Given the description of an element on the screen output the (x, y) to click on. 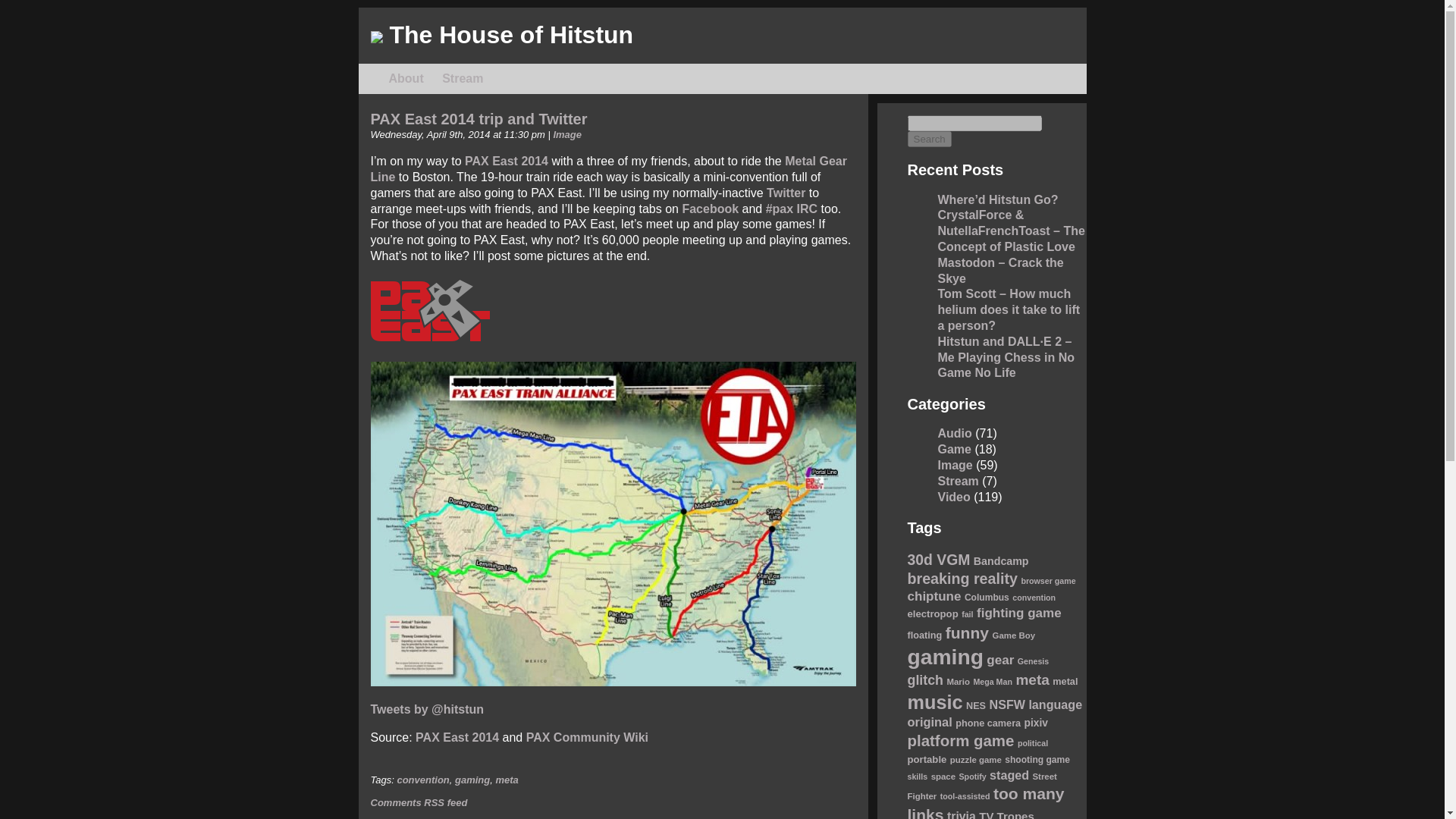
PAX Community Wiki (586, 737)
Permanent Link to PAX East 2014 trip and Twitter (477, 118)
Stream (462, 78)
About (405, 78)
Image (566, 134)
PAX East 2014 (506, 160)
Comments RSS feed (418, 802)
convention (422, 779)
PAX East 2014 (456, 737)
